Given the description of an element on the screen output the (x, y) to click on. 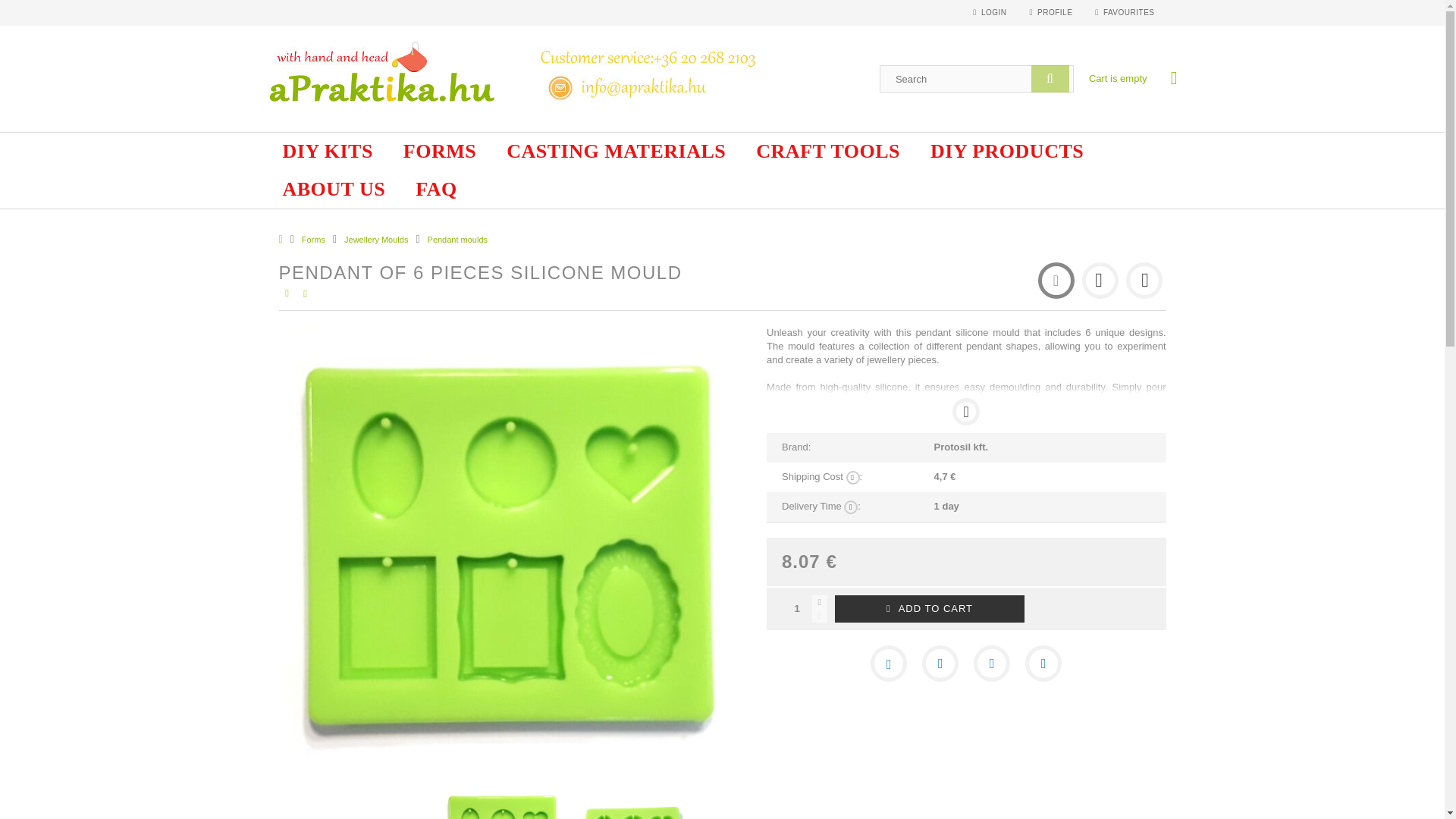
FAVOURITES (1124, 12)
PROFILE (1051, 12)
FORMS (440, 151)
Enter a longer search term! (976, 78)
Search (1049, 78)
Pendant of 6 Pieces Silicone Mould (500, 801)
Cart is empty (1118, 78)
1 (796, 608)
DIY KITS (326, 151)
